Given the description of an element on the screen output the (x, y) to click on. 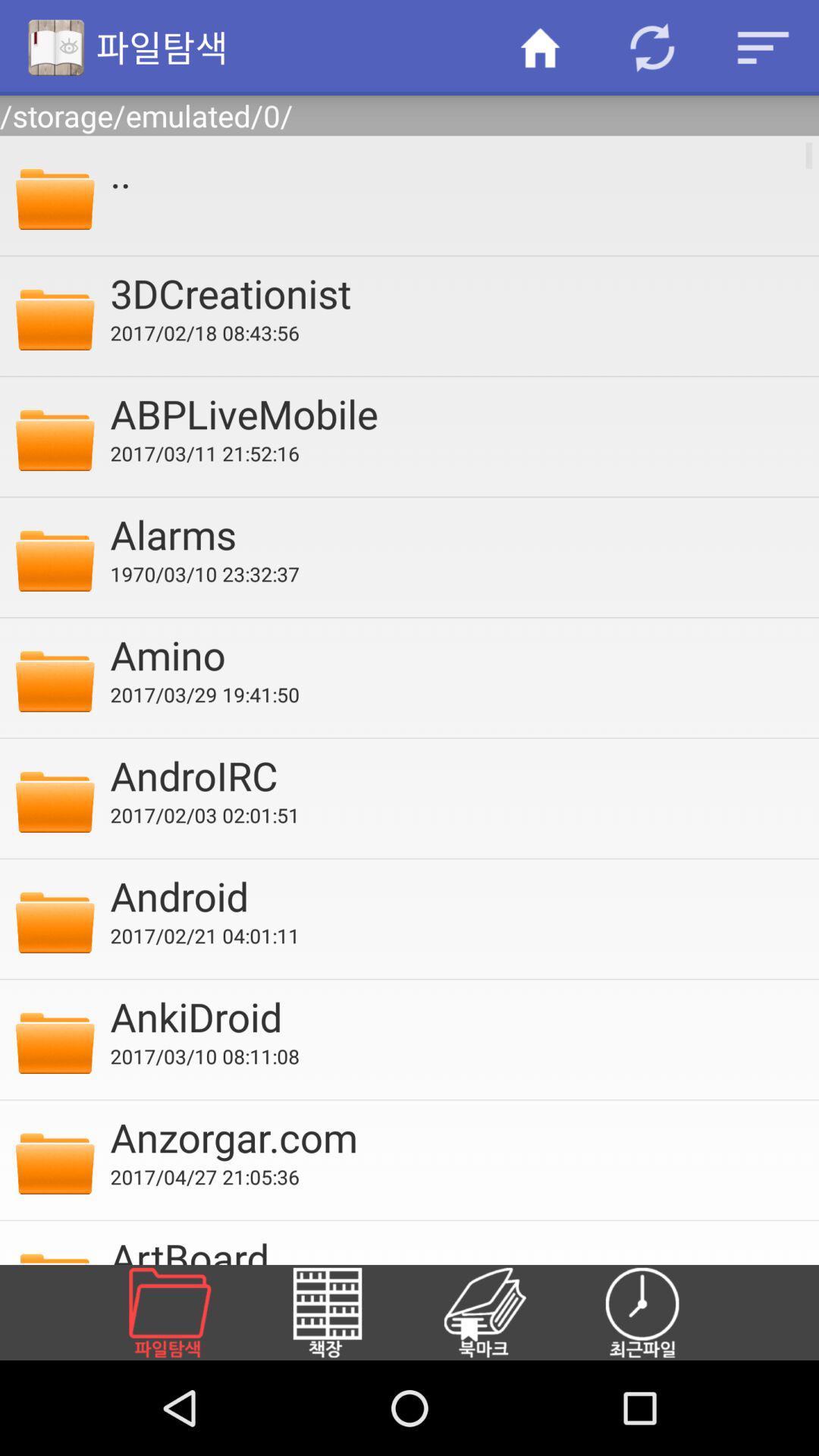
tap the amino icon (454, 654)
